Given the description of an element on the screen output the (x, y) to click on. 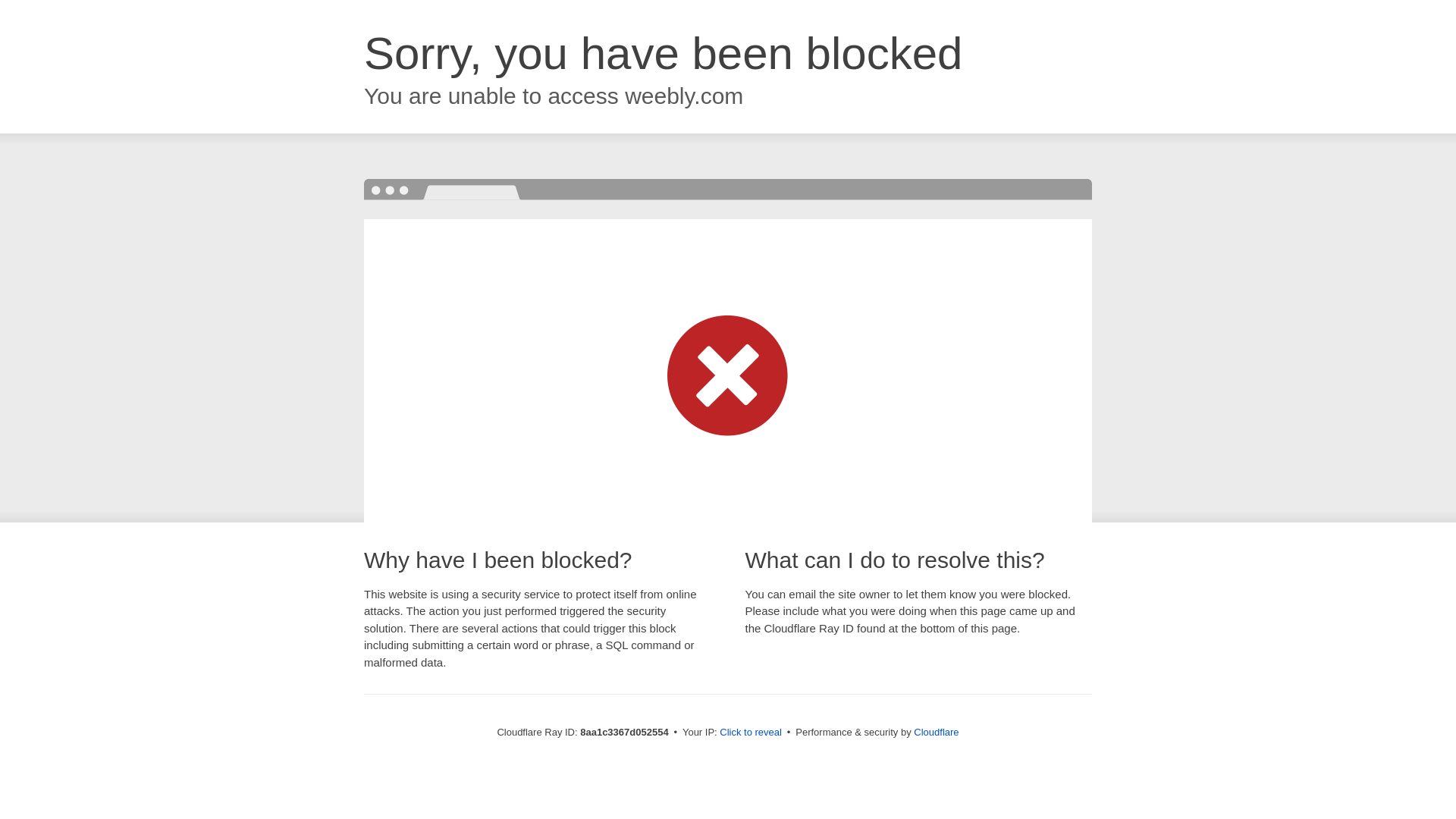
Click to reveal (750, 732)
Cloudflare (936, 731)
